Given the description of an element on the screen output the (x, y) to click on. 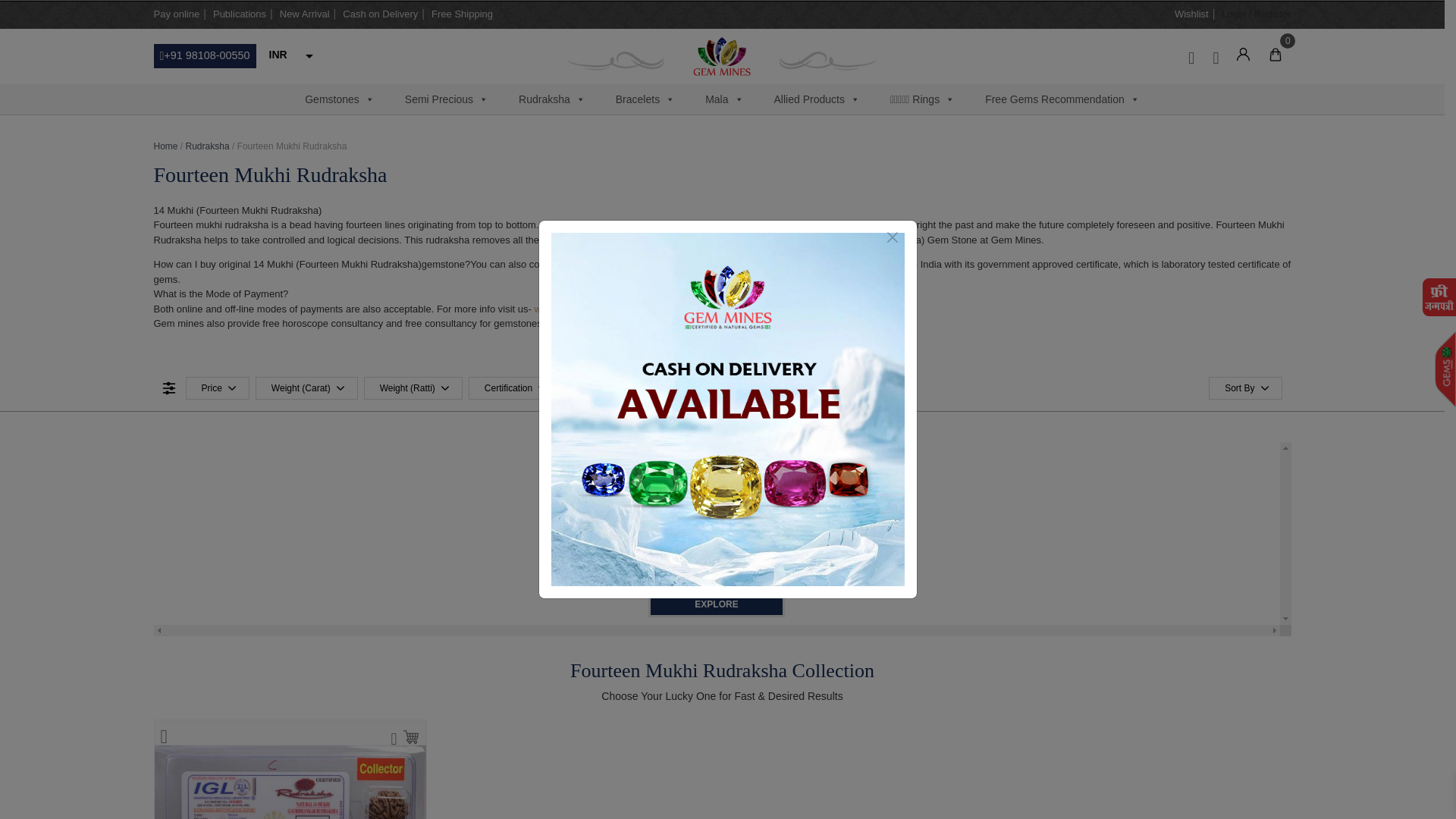
Free Shipping (461, 13)
Publications (239, 13)
0 (1275, 52)
Pay online (175, 13)
Gemstones (339, 99)
New Arrival (304, 13)
Cash on Delivery (379, 13)
Wishlist (1191, 13)
